Given the description of an element on the screen output the (x, y) to click on. 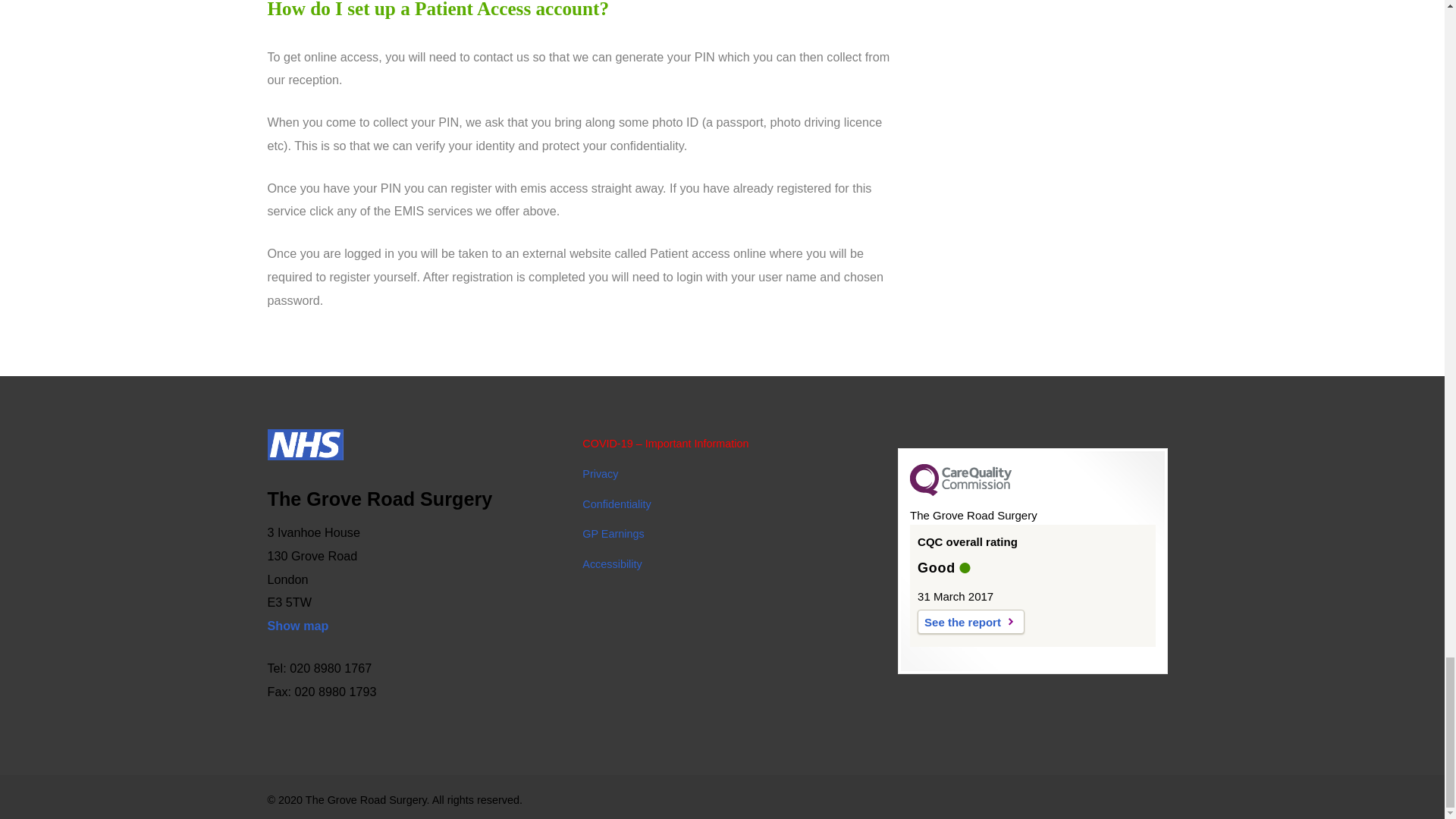
CQC Logo (960, 491)
